Given the description of an element on the screen output the (x, y) to click on. 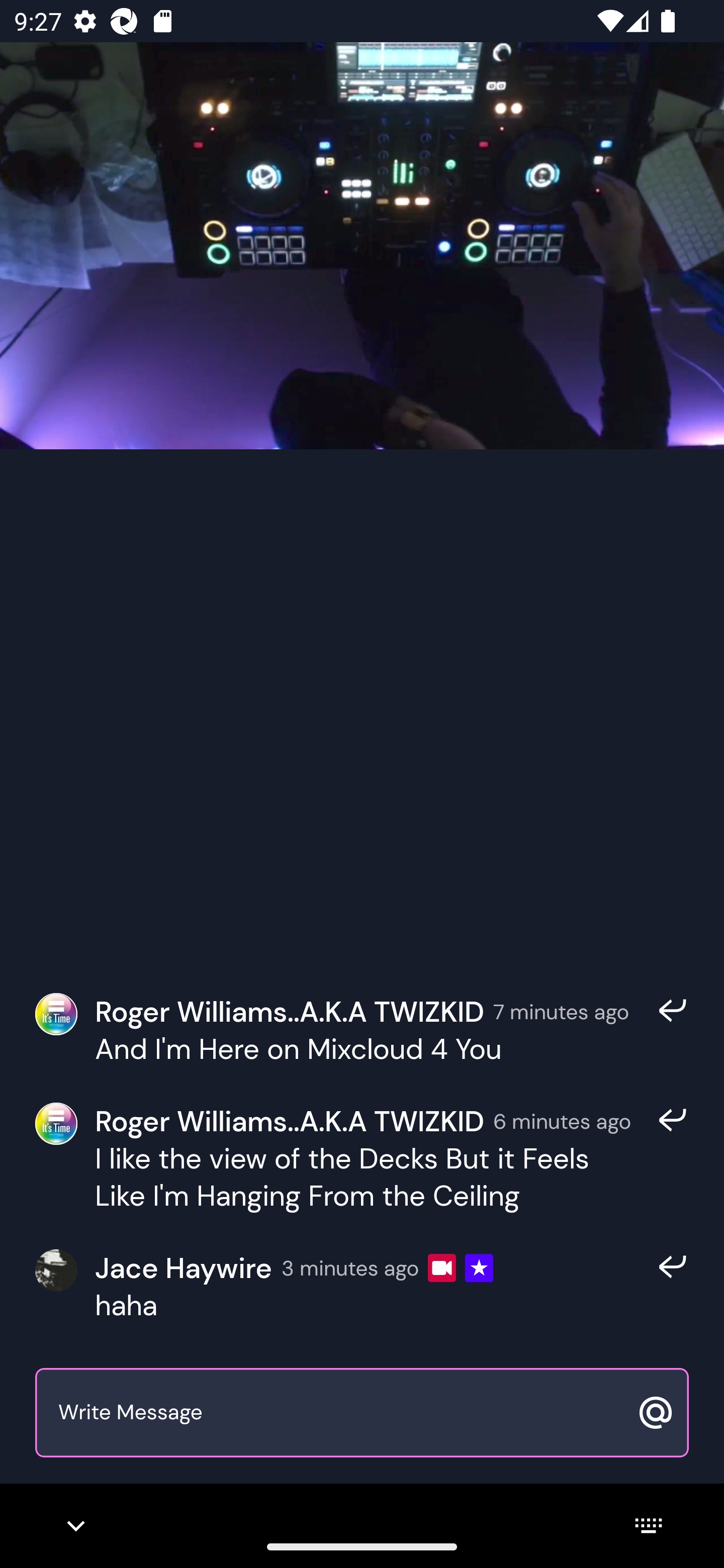
Roger Williams..A.K.A TWIZKID (289, 1011)
Roger Williams..A.K.A TWIZKID (289, 1120)
Jace Haywire (183, 1268)
Write Message (340, 1413)
